Given the description of an element on the screen output the (x, y) to click on. 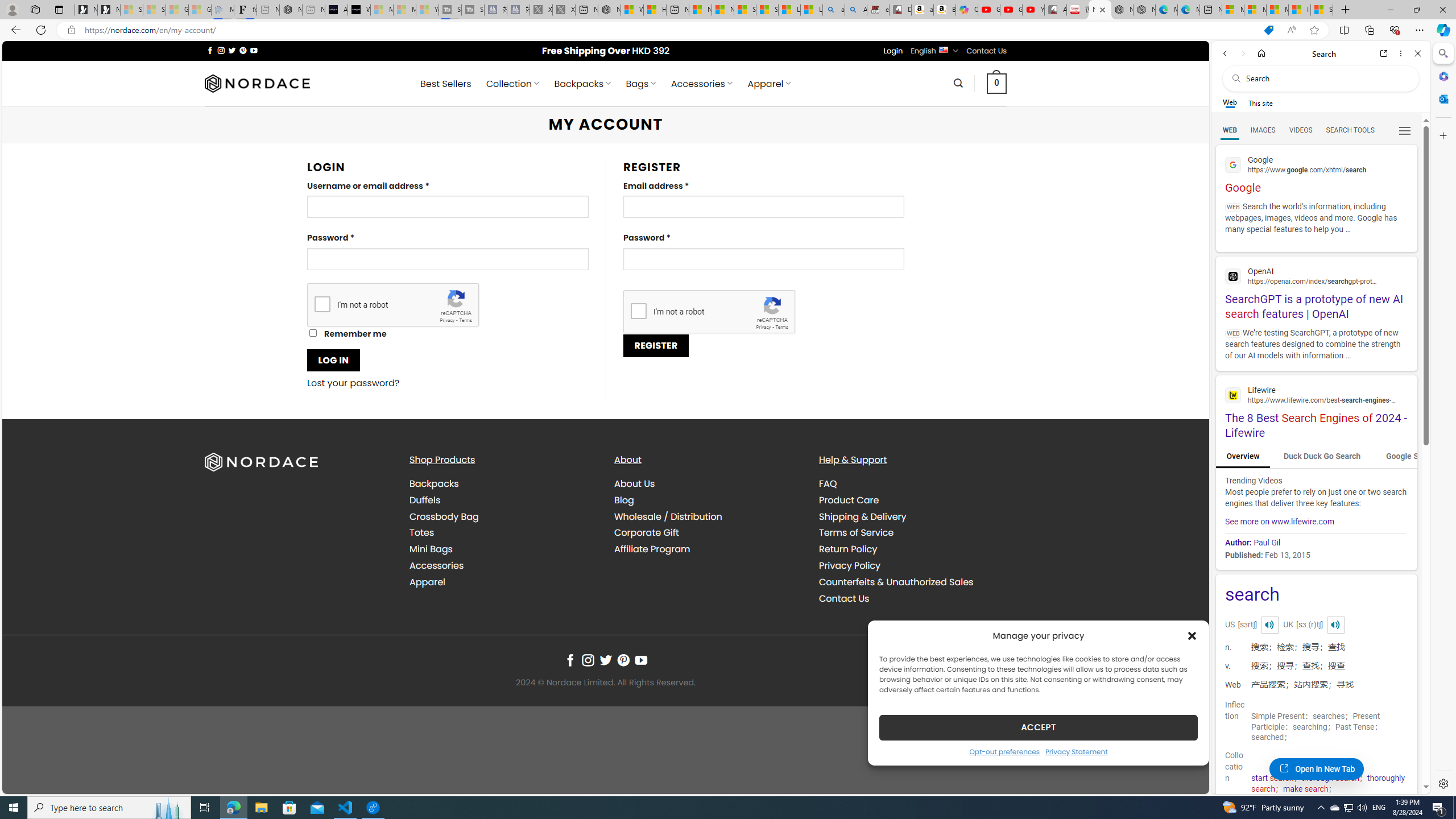
About Us (708, 483)
Affiliate Program (708, 549)
IMAGES (1262, 130)
amazon.in/dp/B0CX59H5W7/?tag=gsmcom05-21 (923, 9)
Open link in new tab (1383, 53)
Apparel (427, 581)
Microsoft Start - Sleeping (404, 9)
The 8 Best Search Engines of 2024 - Lifewire (1315, 410)
X - Sleeping (563, 9)
